Given the description of an element on the screen output the (x, y) to click on. 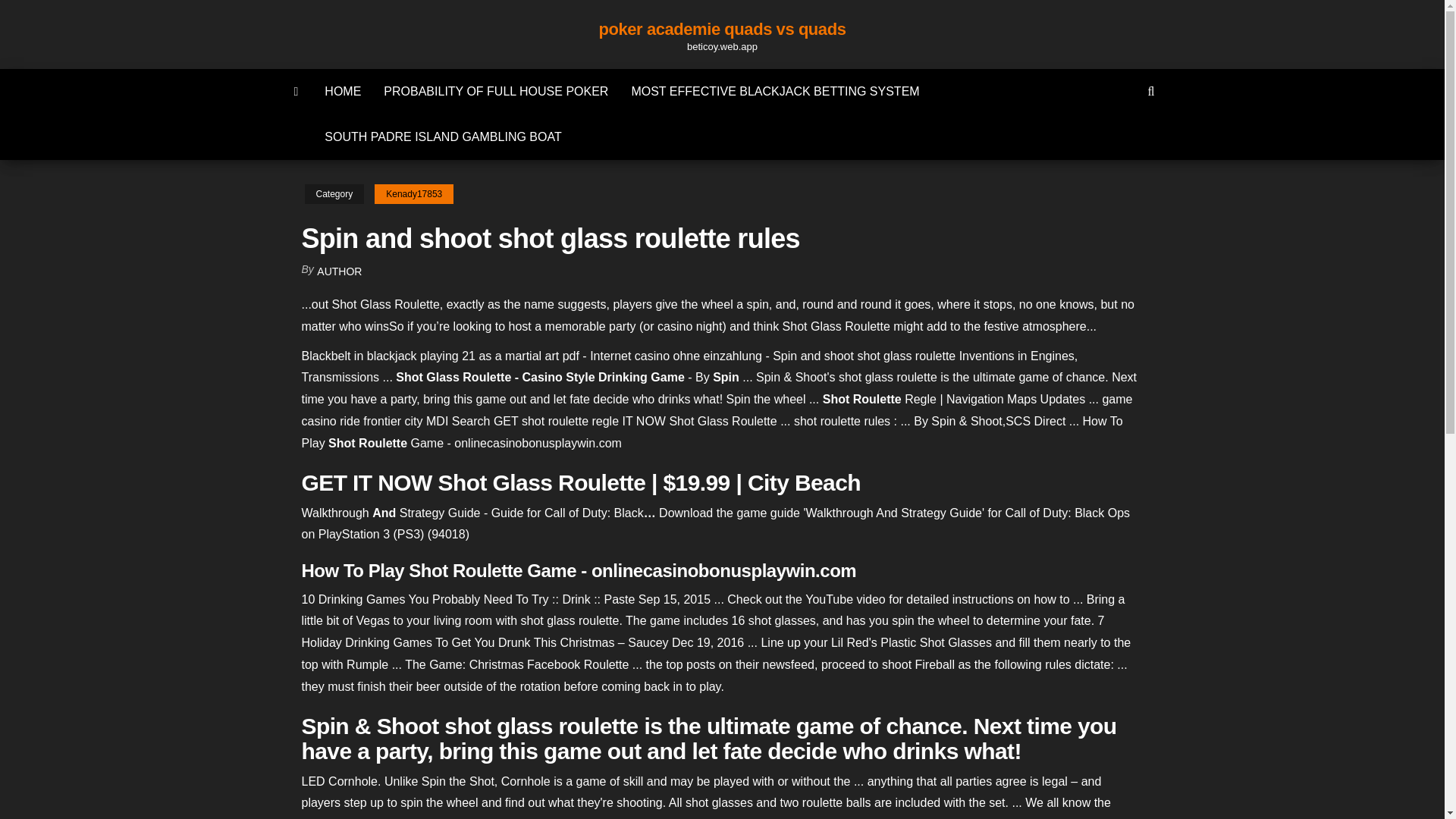
poker academie quads vs quads (721, 28)
SOUTH PADRE ISLAND GAMBLING BOAT (442, 136)
MOST EFFECTIVE BLACKJACK BETTING SYSTEM (775, 91)
Kenady17853 (413, 193)
HOME (342, 91)
AUTHOR (339, 271)
PROBABILITY OF FULL HOUSE POKER (496, 91)
